Given the description of an element on the screen output the (x, y) to click on. 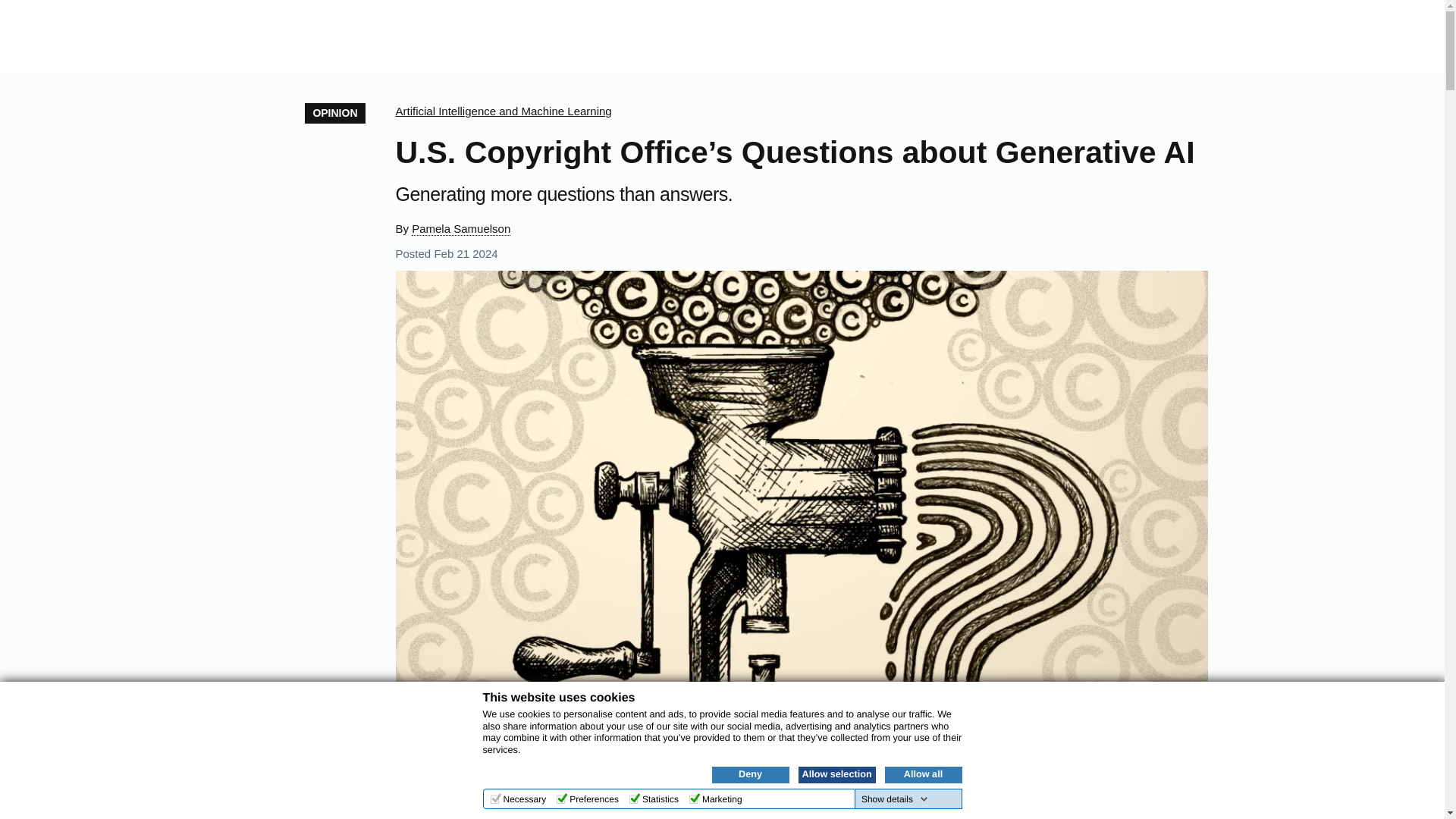
Allow selection (836, 774)
Deny (750, 774)
Allow all (921, 774)
Show details (895, 799)
